Given the description of an element on the screen output the (x, y) to click on. 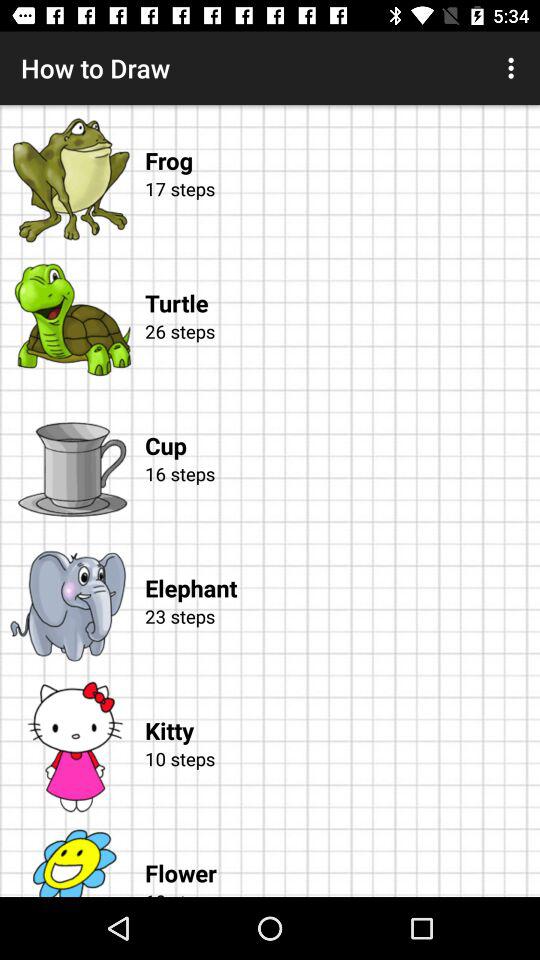
click the icon below the 23 steps icon (342, 710)
